Given the description of an element on the screen output the (x, y) to click on. 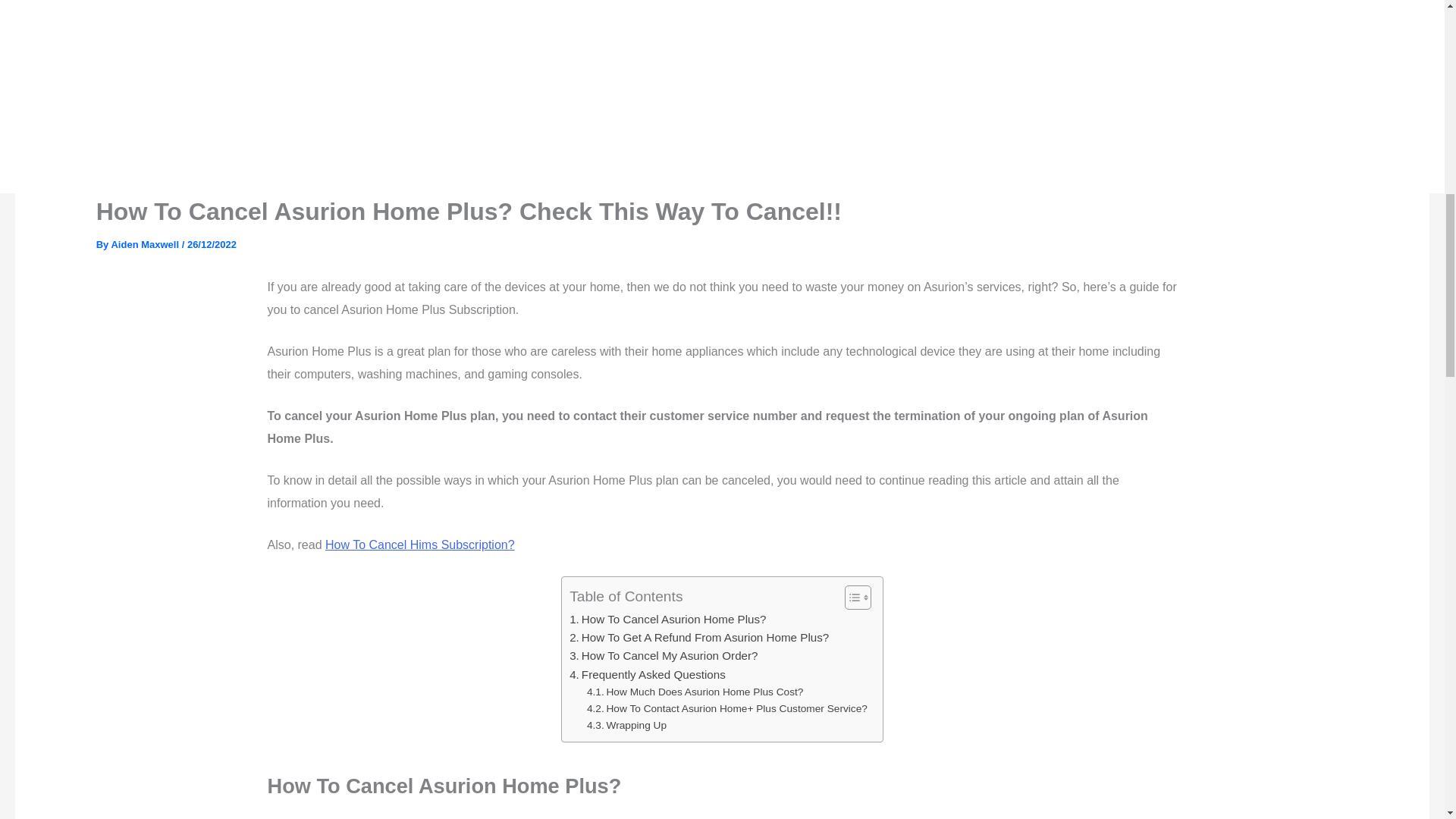
Frequently Asked Questions (647, 674)
How To Get A Refund From Asurion Home Plus? (698, 637)
How To Cancel Asurion Home Plus? (667, 619)
How Much Does Asurion Home Plus Cost? (694, 692)
How To Cancel Hims Subscription? (419, 544)
Aiden Maxwell (145, 244)
How To Cancel My Asurion Order? (663, 656)
Wrapping Up (626, 725)
How To Cancel Asurion Home Plus? (667, 619)
View all posts by Aiden Maxwell (145, 244)
